Given the description of an element on the screen output the (x, y) to click on. 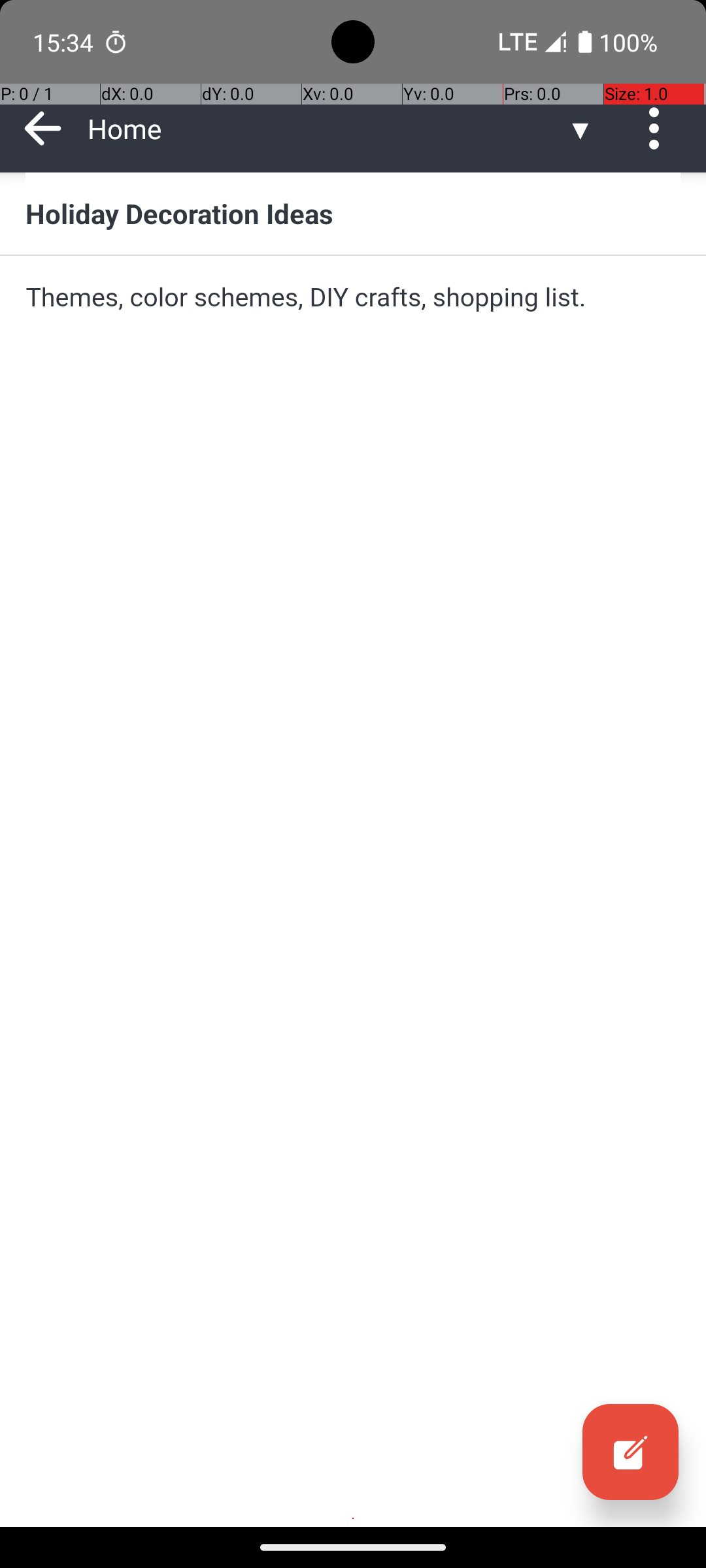
Holiday Decoration Ideas Element type: android.widget.EditText (352, 213)
Themes, color schemes, DIY crafts, shopping list. Element type: android.widget.TextView (352, 296)
